Given the description of an element on the screen output the (x, y) to click on. 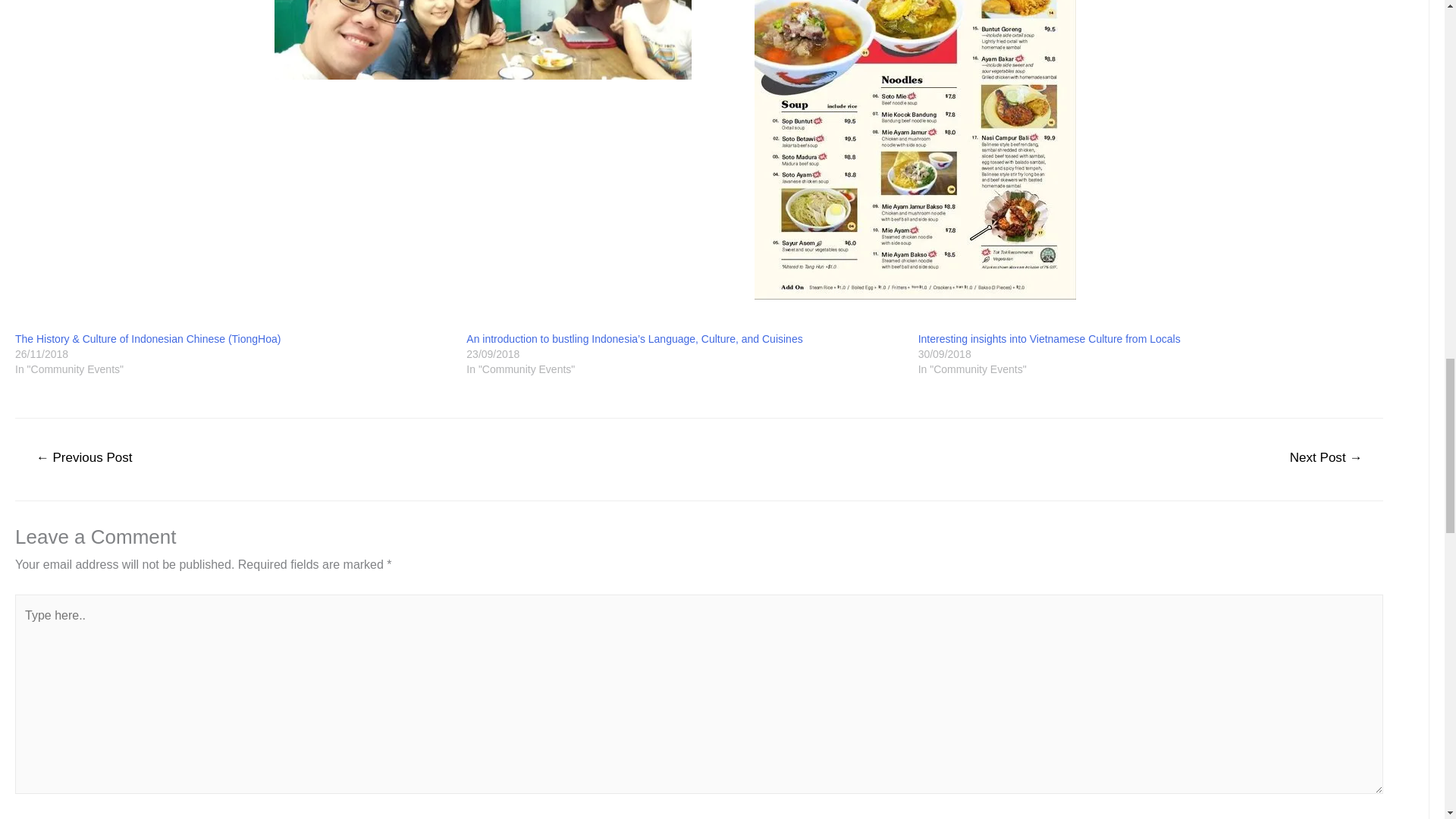
Interesting insights into Vietnamese Culture from Locals (1049, 338)
Interesting insights into Vietnamese Culture from Locals (1049, 338)
